Given the description of an element on the screen output the (x, y) to click on. 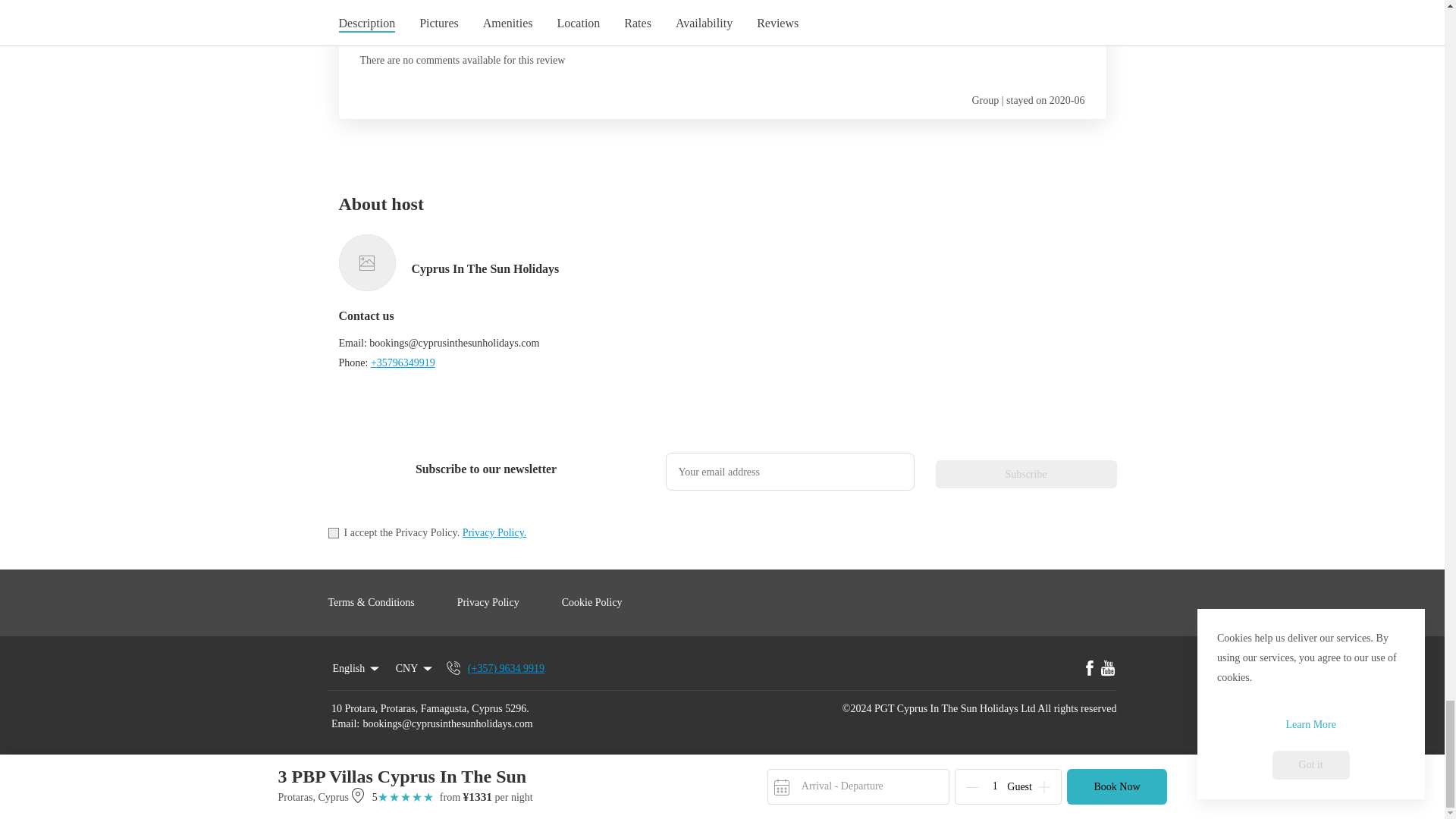
Youtube (1106, 668)
on (332, 532)
Facebook (1088, 668)
